Given the description of an element on the screen output the (x, y) to click on. 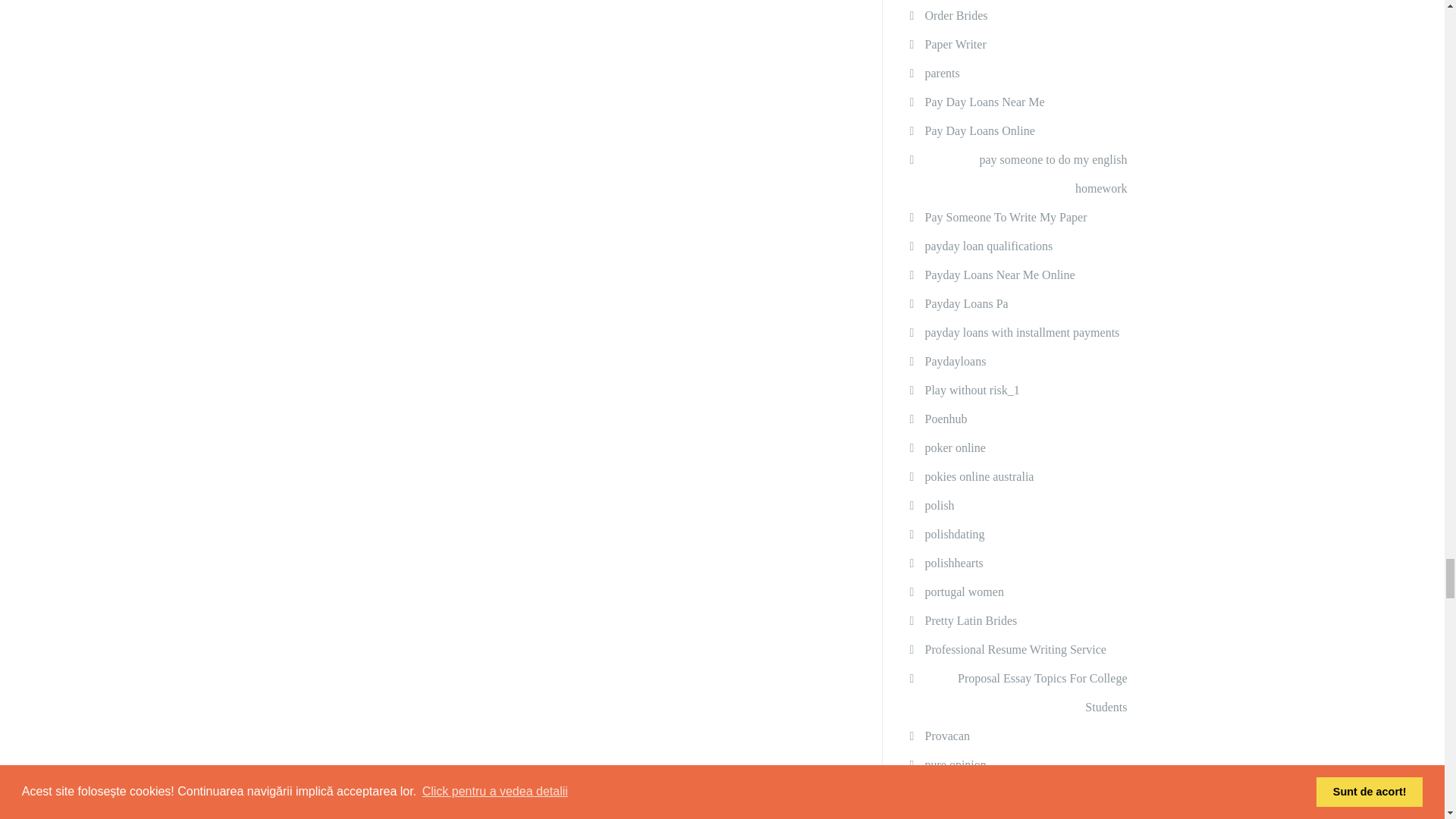
poker online (954, 448)
pure opinion (954, 765)
